Given the description of an element on the screen output the (x, y) to click on. 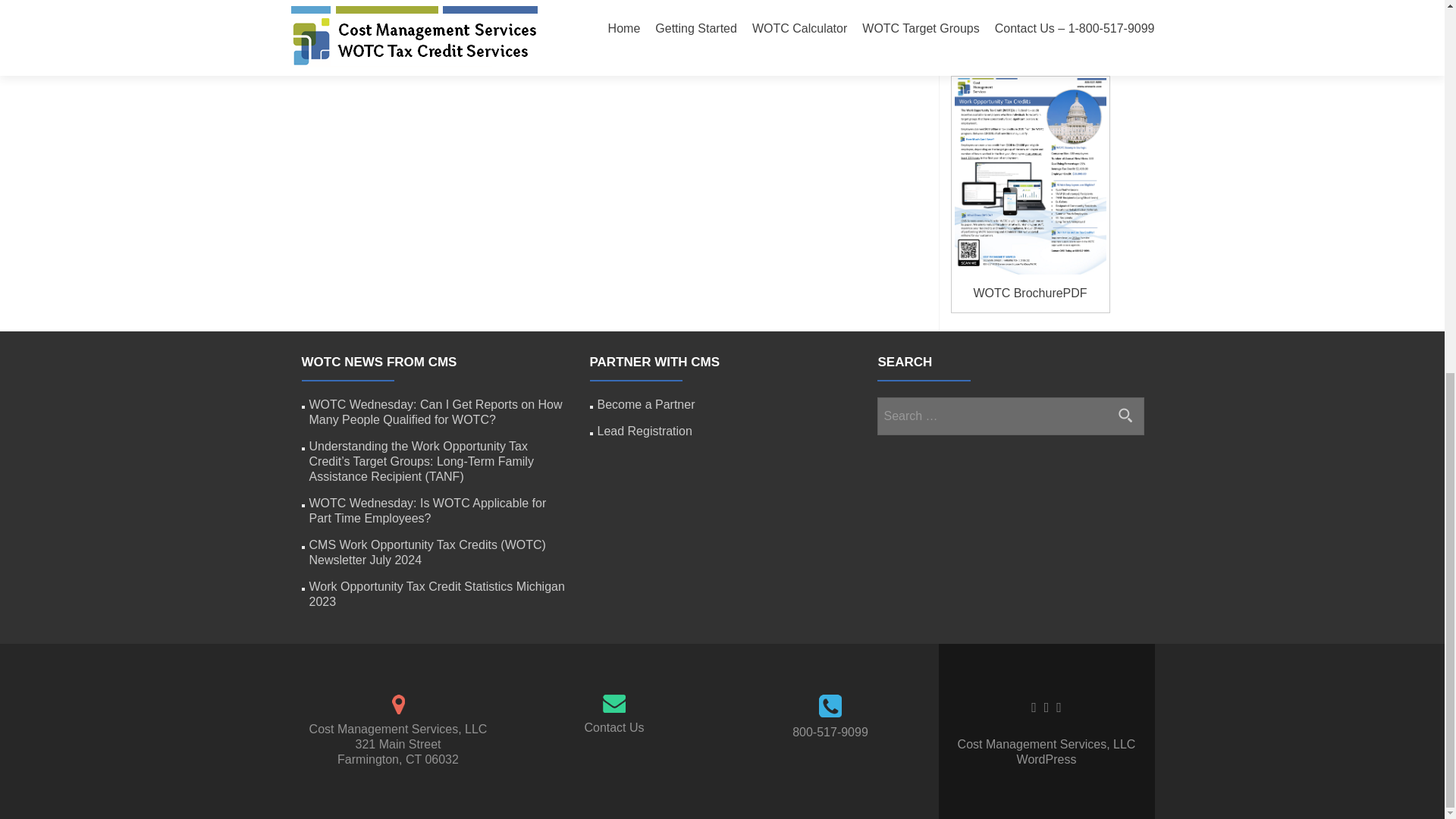
Contact Us (613, 727)
Become a Partner (645, 404)
Work Opportunity Tax Credit Statistics Michigan 2023 (436, 593)
Work Opportunity Tax Credit Statistics Michigan 2023 (1039, 3)
WOTC Wednesday: Is WOTC Applicable for Part Time Employees? (427, 510)
Search (1125, 414)
Lead Registration (644, 431)
Search (1125, 414)
Search (1125, 414)
